Given the description of an element on the screen output the (x, y) to click on. 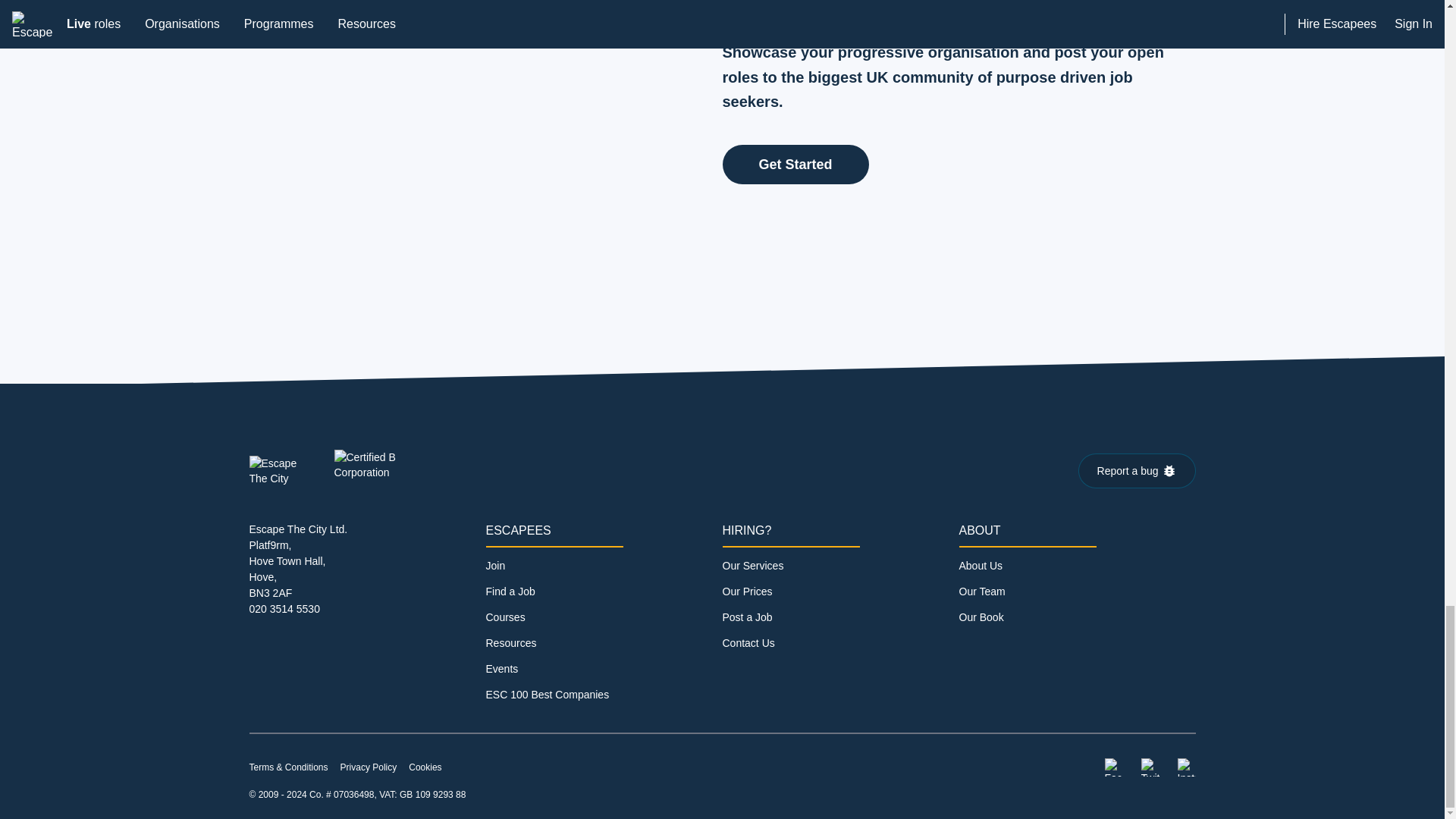
Courses (504, 616)
Find a Job (509, 591)
Get Started (794, 164)
Report a bug (1136, 470)
020 3514 5530 (283, 608)
Resources (509, 643)
